Given the description of an element on the screen output the (x, y) to click on. 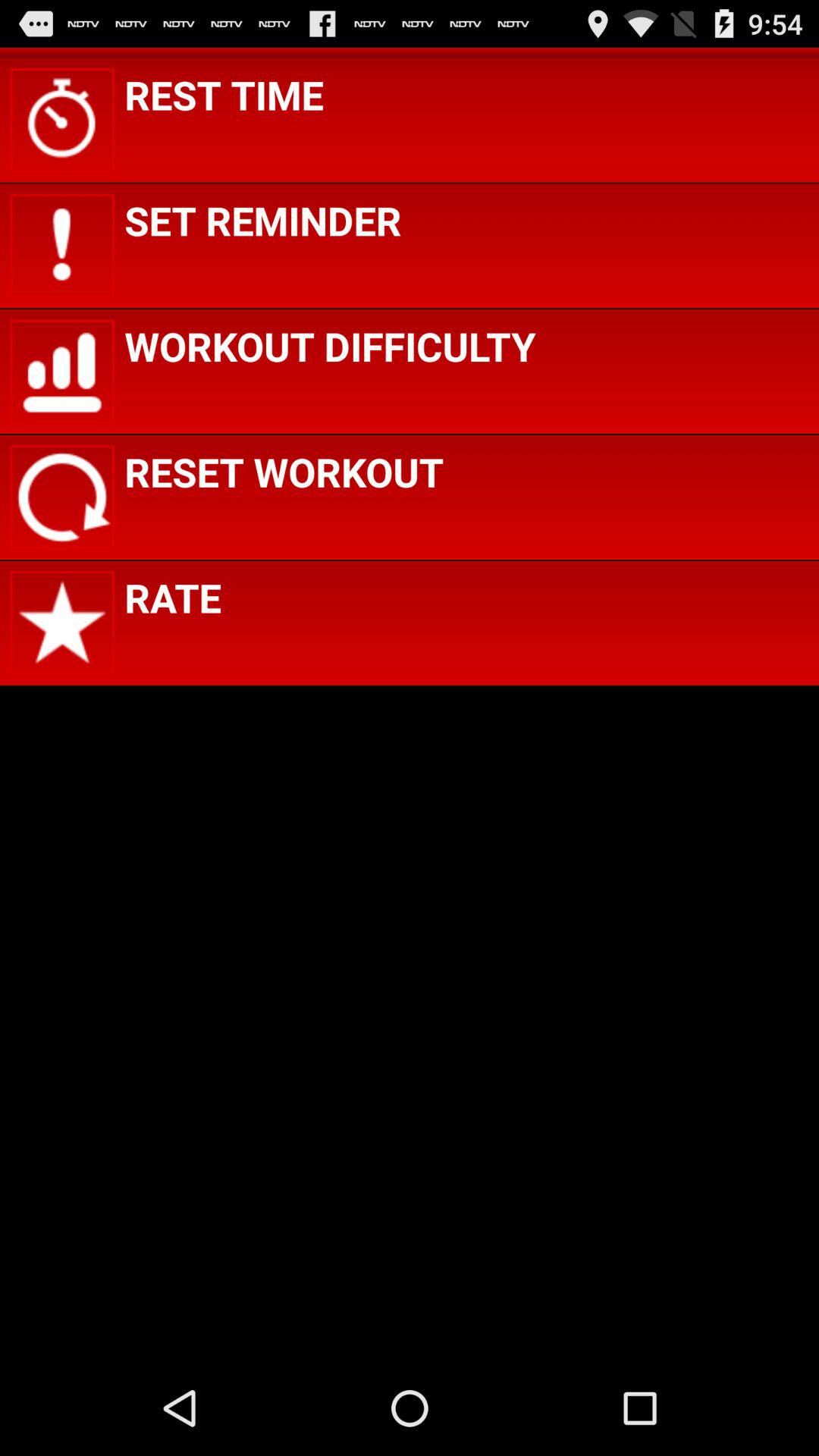
open icon above reset workout (329, 345)
